Given the description of an element on the screen output the (x, y) to click on. 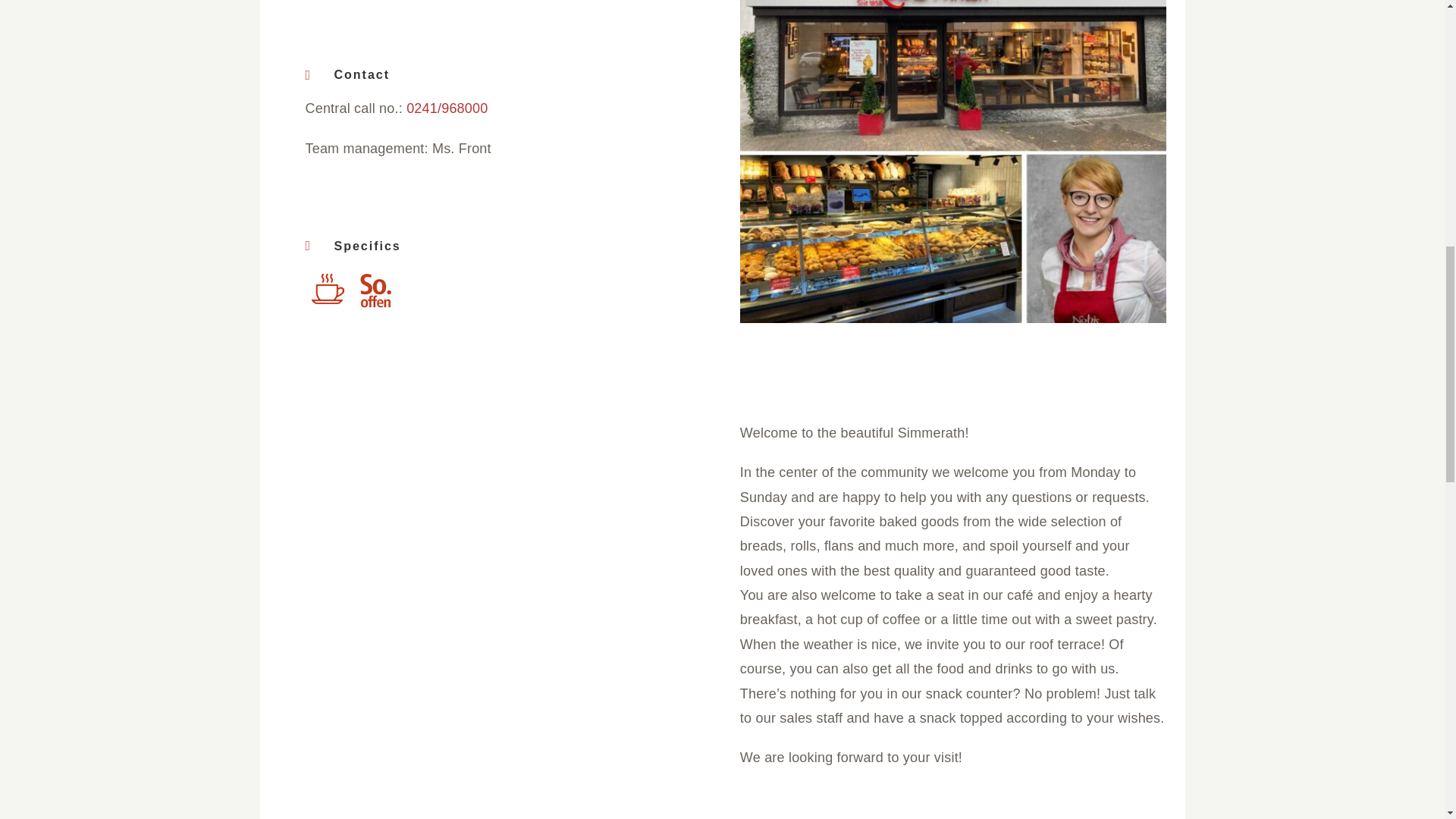
Open on Sundays (375, 290)
